Given the description of an element on the screen output the (x, y) to click on. 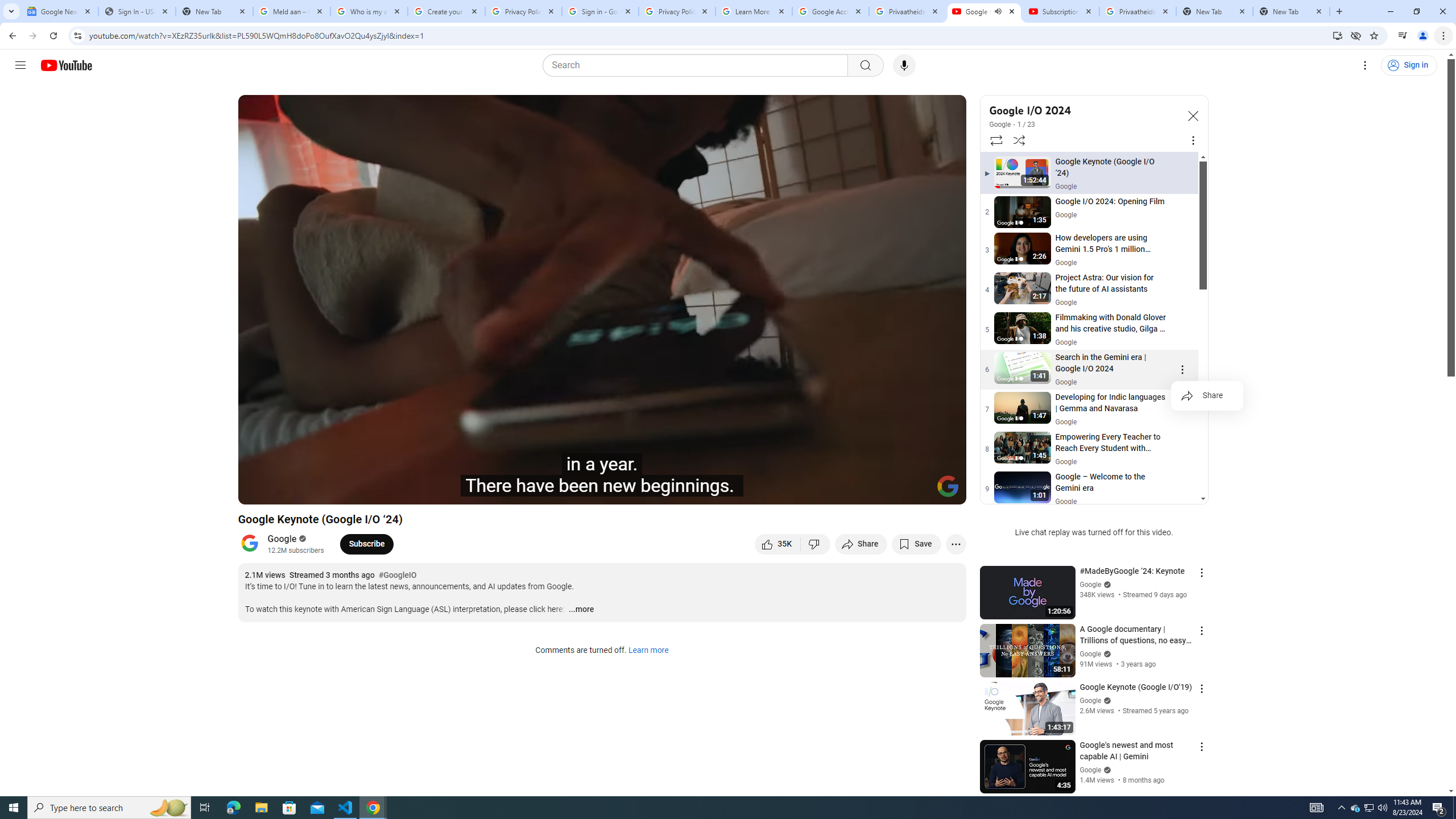
New Tab (213, 11)
Miniplayer (i) (890, 490)
Opening Film (434, 490)
Verified (1106, 769)
Subscribe to Google. (366, 543)
Previous (SHIFT+p) (259, 490)
...more (580, 609)
Channel watermark (947, 486)
Shuffle playlist (1018, 140)
Theater mode (t) (917, 490)
Sign in - Google Accounts (599, 11)
